Given the description of an element on the screen output the (x, y) to click on. 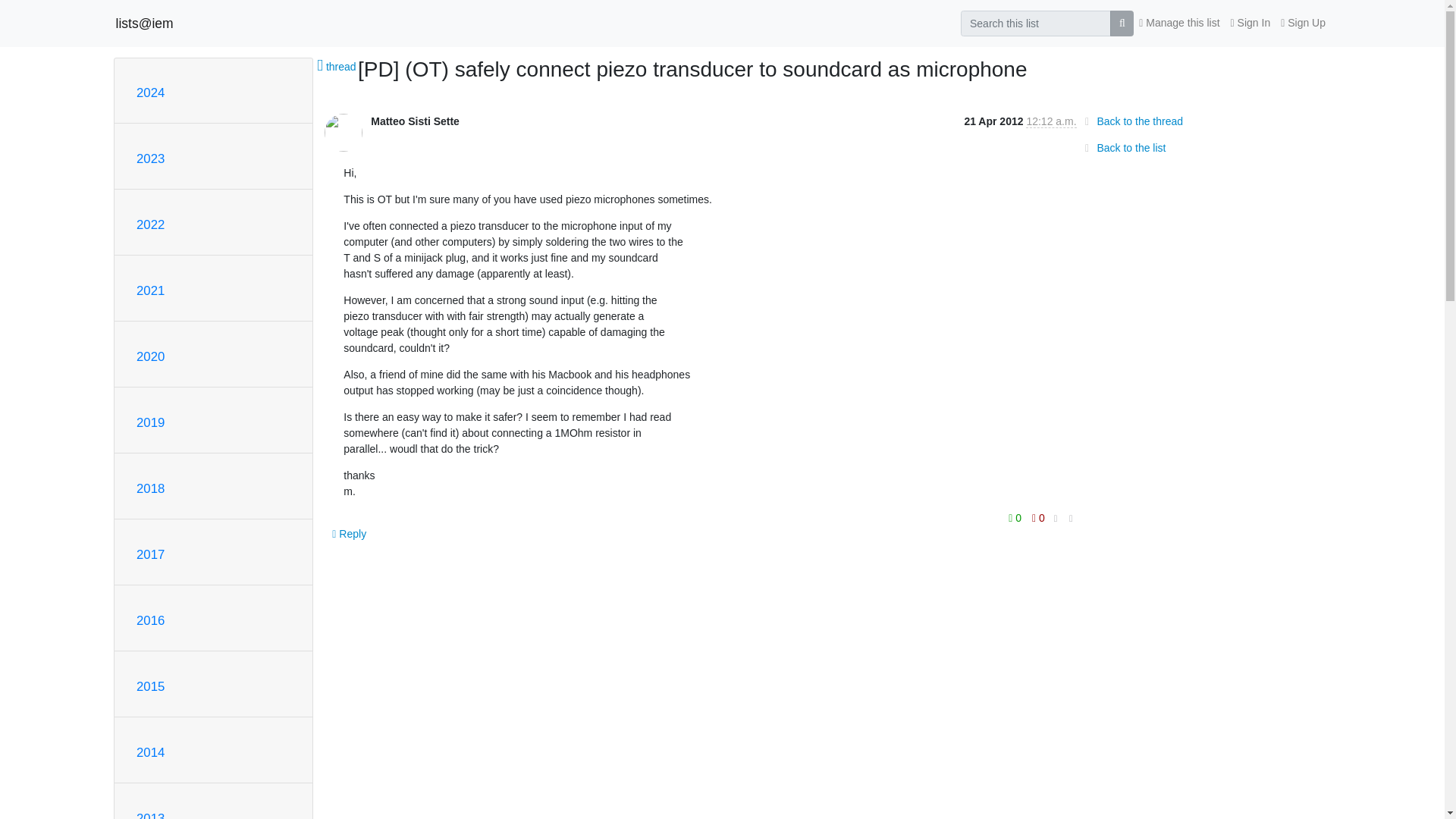
Sign in to reply online (349, 533)
2022 (150, 224)
You must be logged-in to vote. (1037, 517)
Manage this list (1179, 22)
Sign In (1250, 22)
Sign Up (1302, 22)
Sender's time: April 21, 2012, 12:12 a.m. (1050, 121)
You must be logged-in to vote. (1015, 517)
2023 (150, 158)
2024 (150, 92)
